Given the description of an element on the screen output the (x, y) to click on. 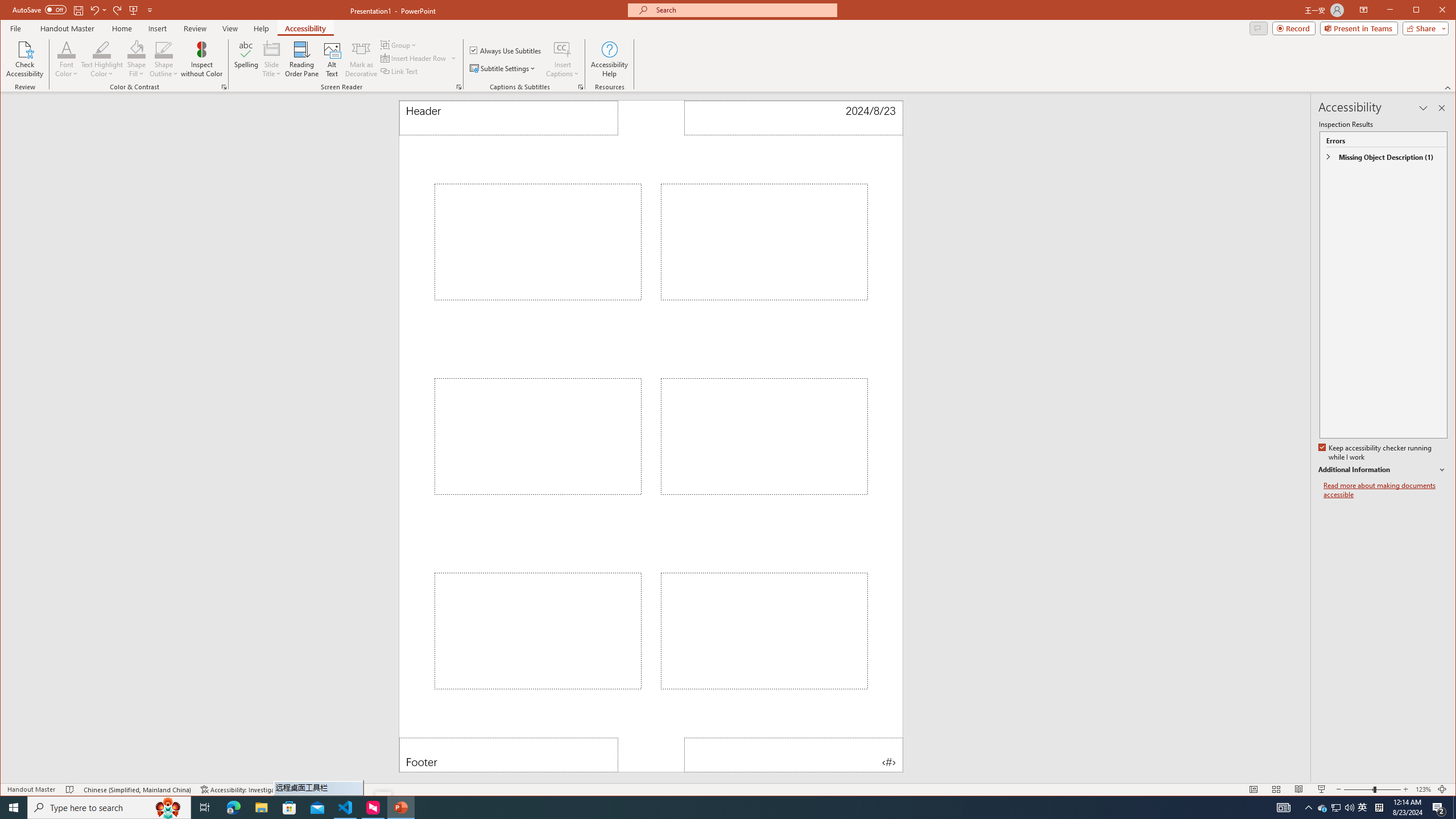
Header (508, 117)
Q2790: 100% (1349, 807)
Search highlights icon opens search home window (167, 807)
Shape Fill (136, 59)
Maximize (1432, 11)
AutomationID: 4105 (1283, 807)
PowerPoint - 1 running window (400, 807)
